Given the description of an element on the screen output the (x, y) to click on. 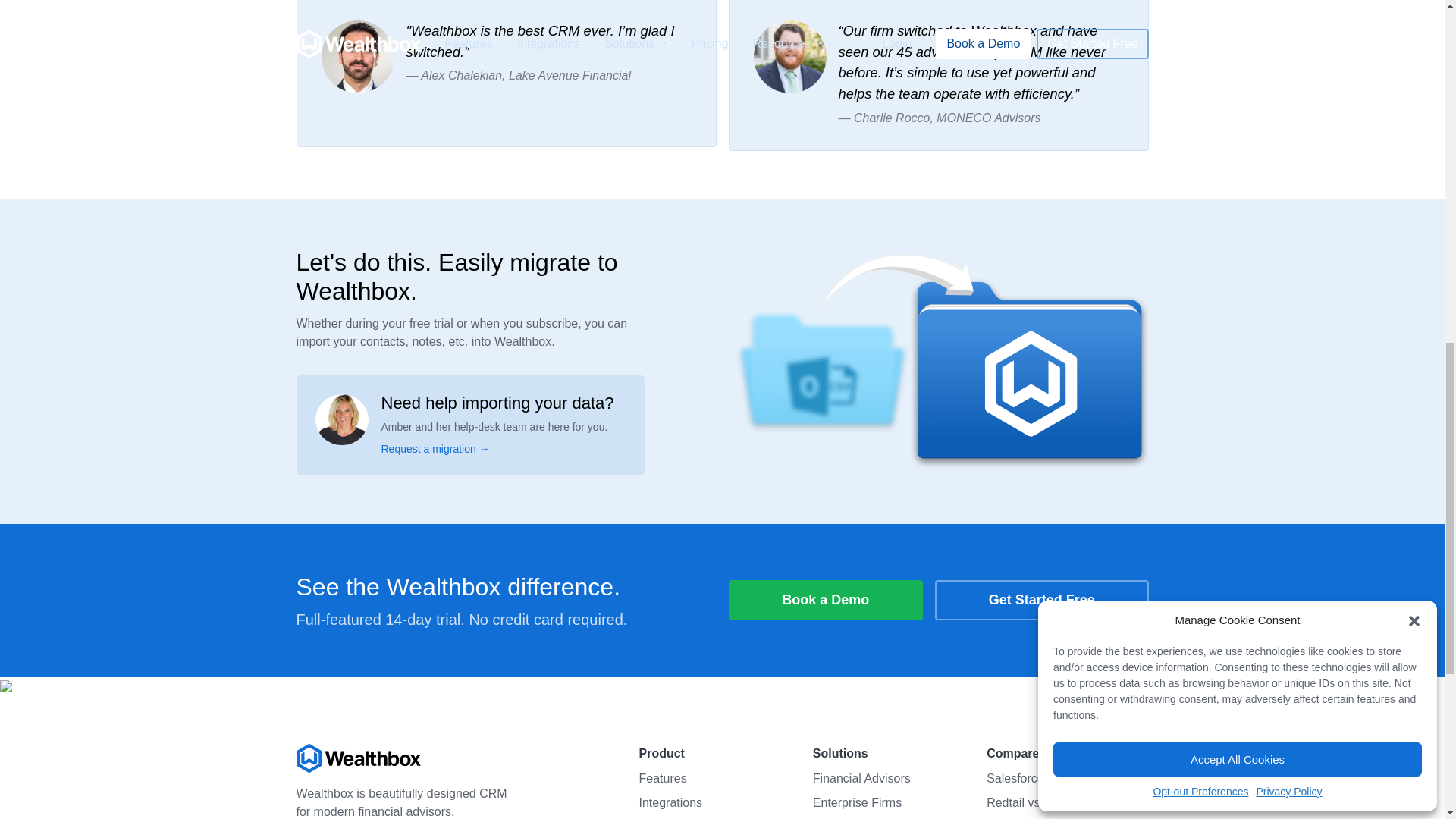
Charlie Rocco, MONECO Advisors (947, 117)
Wealthbox CRM Logo (357, 758)
Get Started Free (1041, 599)
Book a Demo (825, 599)
Wealthbox CRM Logo (433, 758)
Alex Chalekian, Lake Avenue Financial (525, 74)
